Given the description of an element on the screen output the (x, y) to click on. 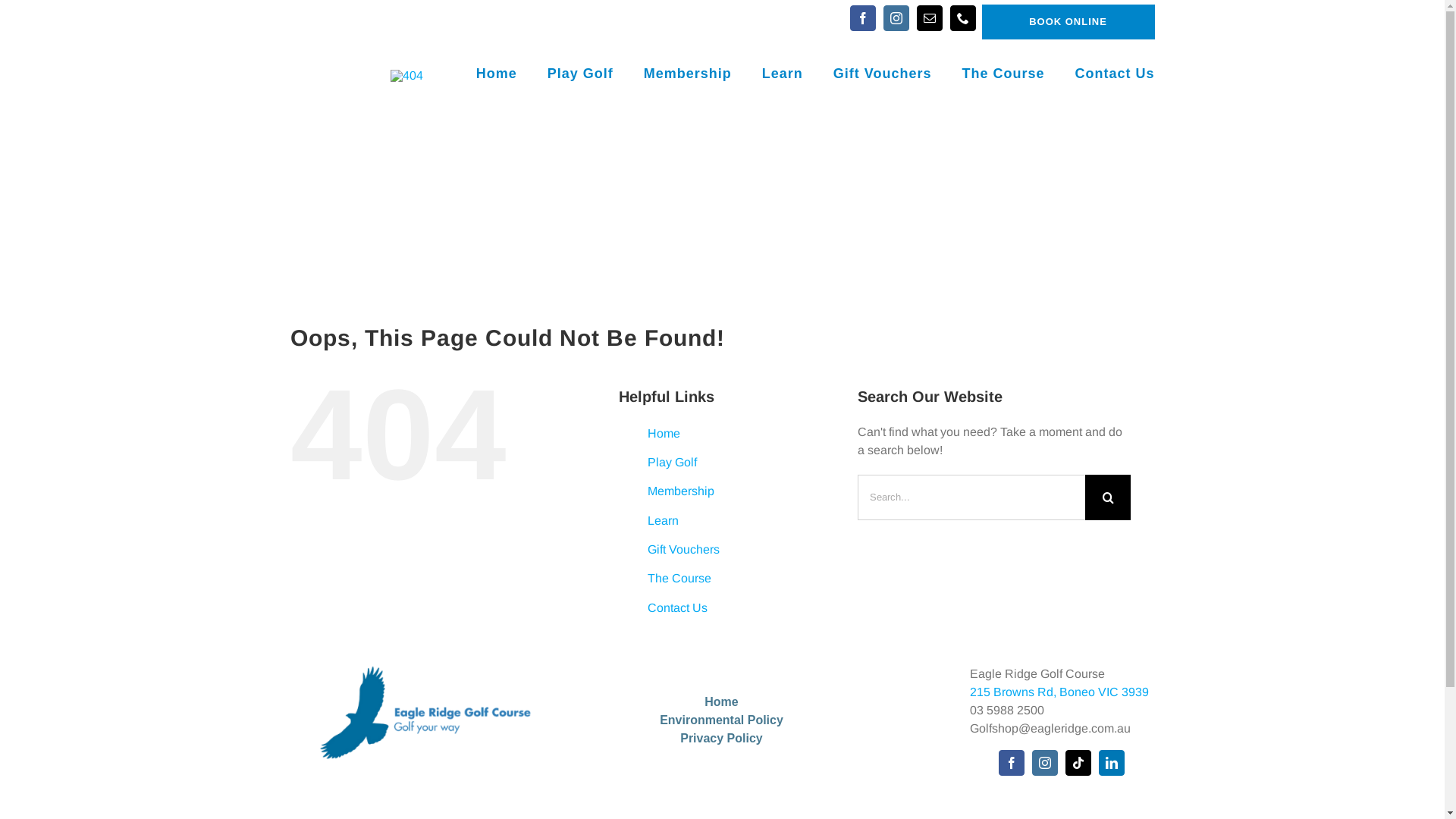
Contact Us Element type: text (1114, 74)
Membership Element type: text (680, 490)
Play Golf Element type: text (580, 74)
Home Element type: text (496, 74)
Learn Element type: text (782, 74)
Environmental Policy Element type: text (721, 720)
215 Browns Rd, Boneo VIC 3939 Element type: text (1058, 691)
Learn Element type: text (662, 520)
Membership Element type: text (687, 74)
BOOK ONLINE Element type: text (1067, 21)
Play Golf Element type: text (671, 461)
The Course Element type: text (679, 577)
Gift Vouchers Element type: text (882, 74)
Home Element type: text (721, 702)
Privacy Policy Element type: text (721, 738)
Contact Us Element type: text (677, 607)
The Course Element type: text (1002, 74)
Gift Vouchers Element type: text (683, 548)
Home Element type: text (663, 432)
